Given the description of an element on the screen output the (x, y) to click on. 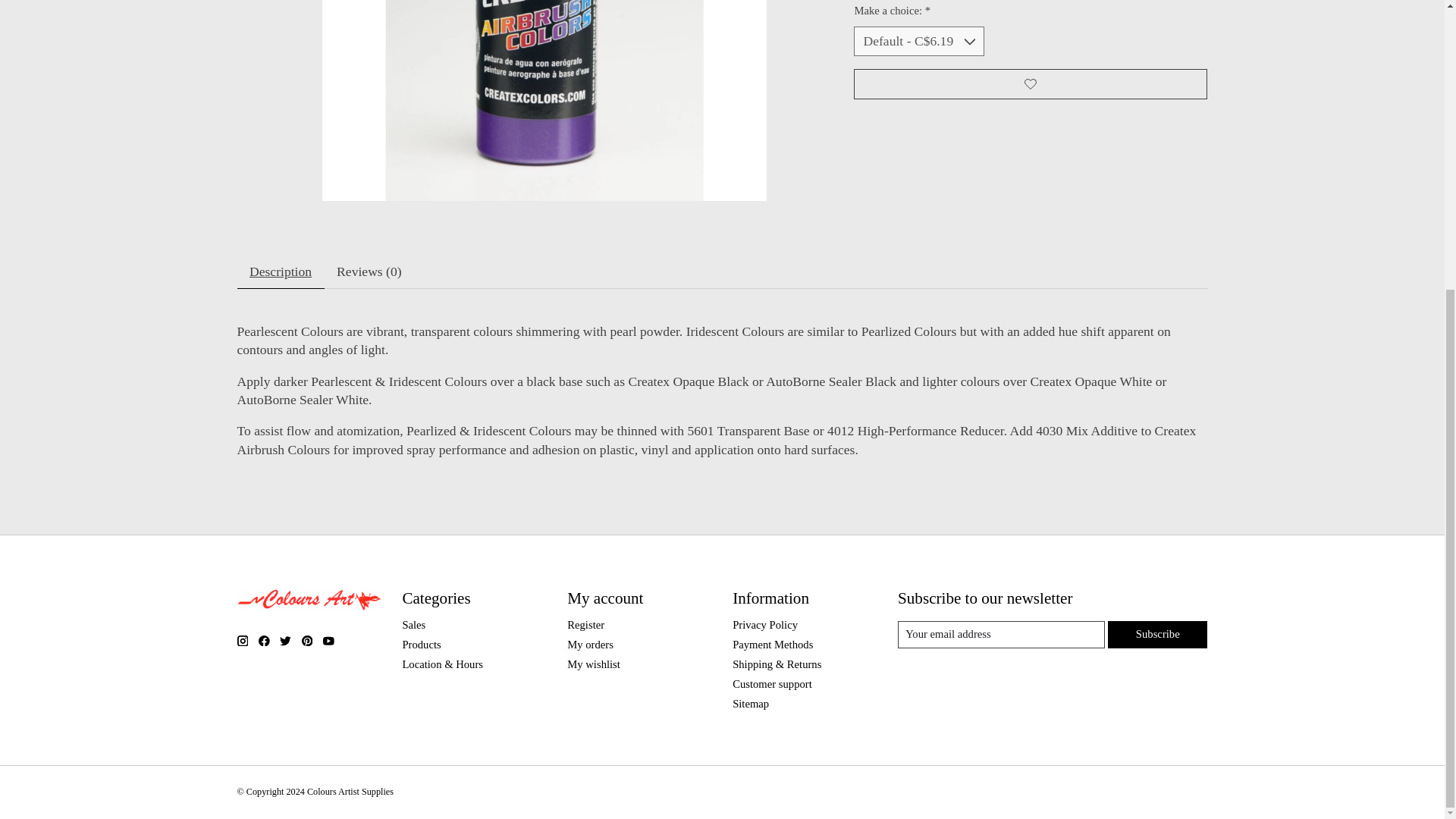
Register (585, 624)
Payment Methods (772, 644)
Sitemap (750, 703)
My orders (589, 644)
Privacy Policy (764, 624)
My wishlist (593, 664)
Customer support (772, 684)
